Given the description of an element on the screen output the (x, y) to click on. 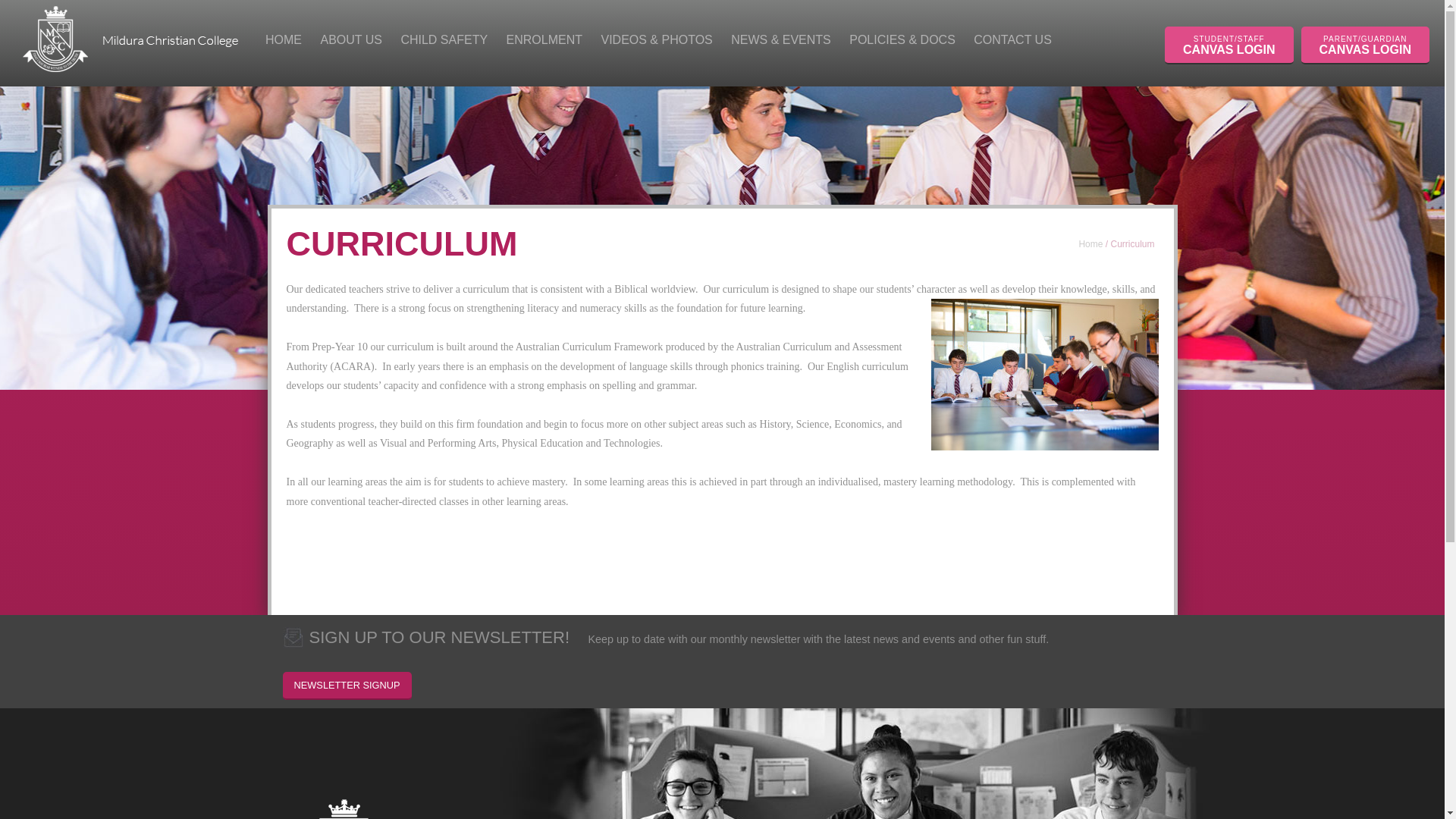
HOME (282, 43)
CHILD SAFETY (444, 43)
MILDURA CHRISTIAN COLLEGE (56, 36)
CONTACT US (1012, 43)
ABOUT US (351, 43)
ENROLMENT (544, 43)
